Given the description of an element on the screen output the (x, y) to click on. 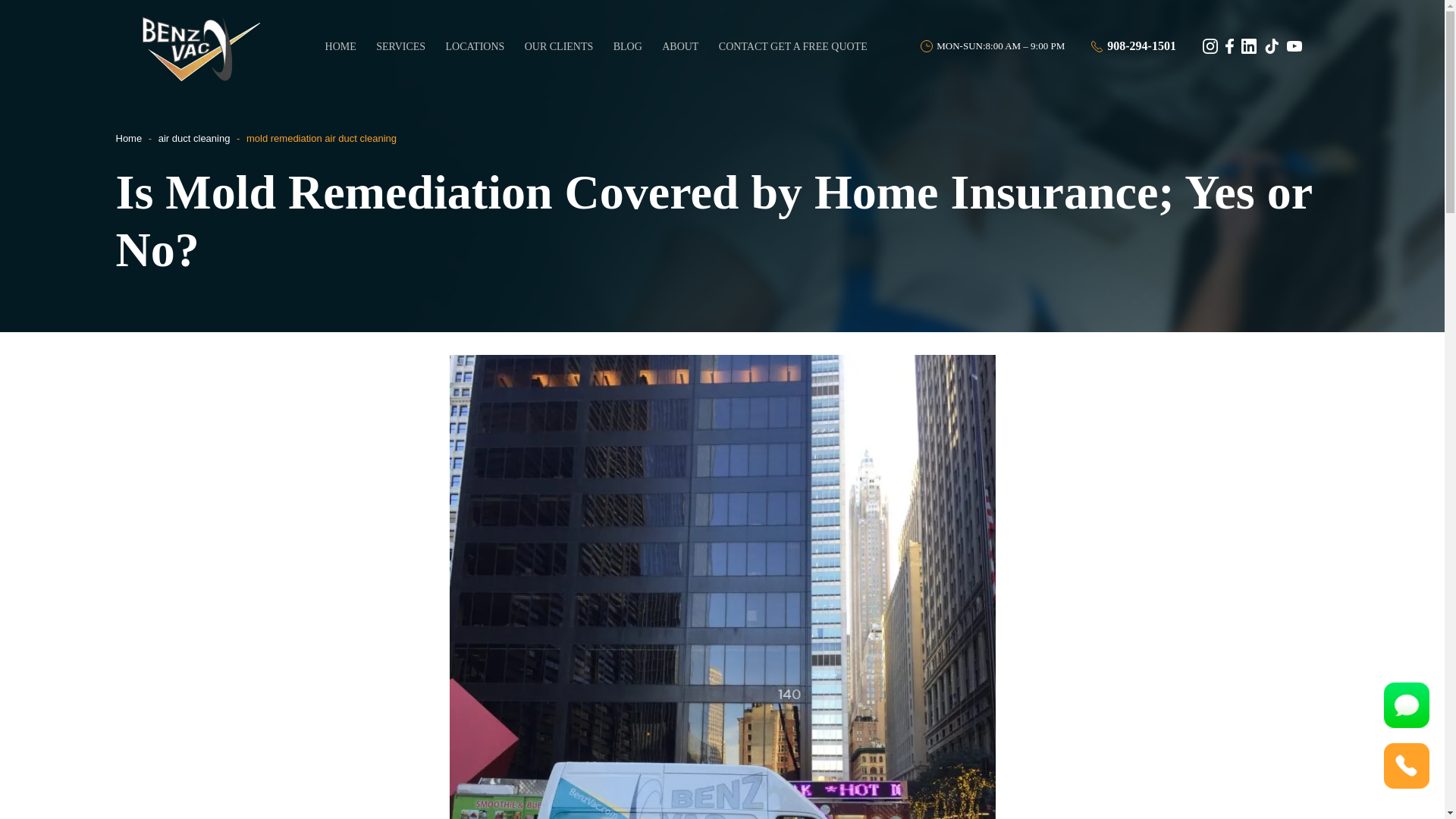
908-294-1501 (1133, 46)
HOME (340, 45)
LOCATIONS (474, 45)
ABOUT (680, 45)
OUR CLIENTS (557, 45)
SERVICES (400, 45)
CONTACT GET A FREE QUOTE (793, 45)
BLOG (628, 45)
